Given the description of an element on the screen output the (x, y) to click on. 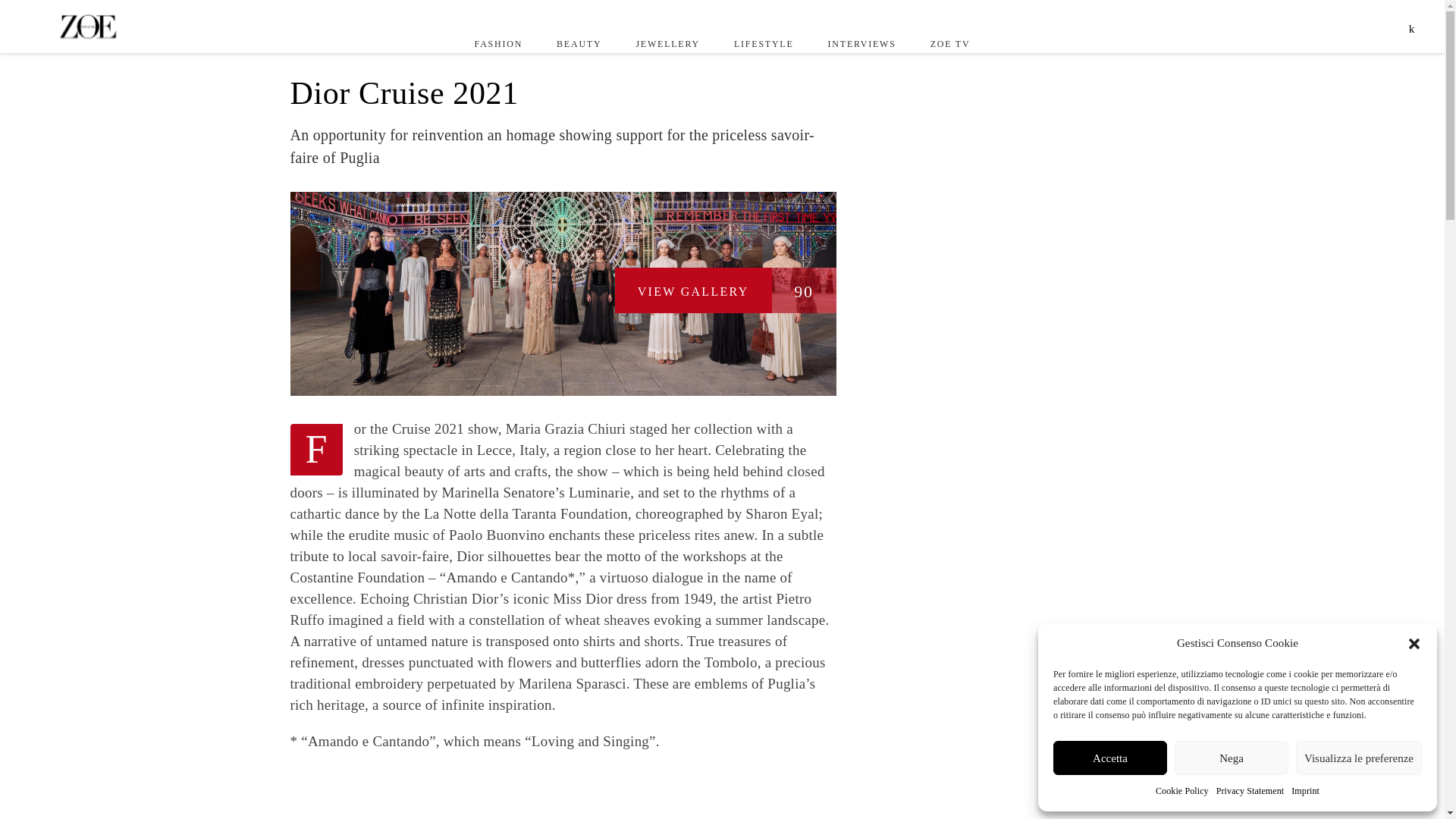
JEWELLERY (667, 43)
Visualizza le preferenze (1358, 757)
FASHION (498, 43)
BEAUTY (578, 43)
LIFESTYLE (763, 43)
Cookie Policy (1182, 791)
INTERVIEWS (861, 43)
ZOE TV (949, 43)
Imprint (1305, 791)
Nega (1231, 757)
Setting a magical scene (562, 793)
Accetta (1109, 757)
Privacy Statement (1249, 791)
